Given the description of an element on the screen output the (x, y) to click on. 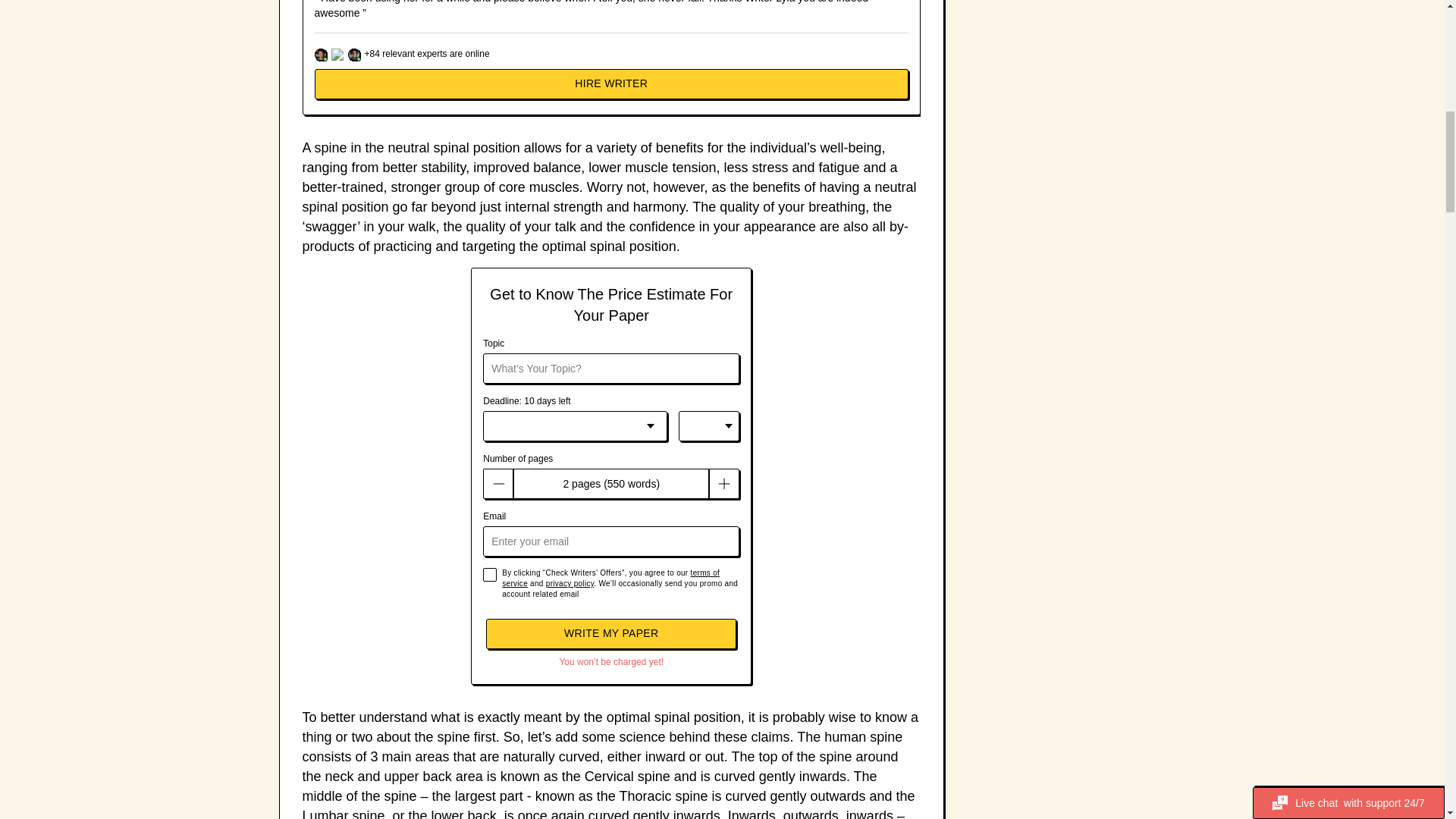
HIRE WRITER (611, 83)
terms of service (610, 578)
privacy policy (570, 583)
WRITE MY PAPER (611, 634)
